Given the description of an element on the screen output the (x, y) to click on. 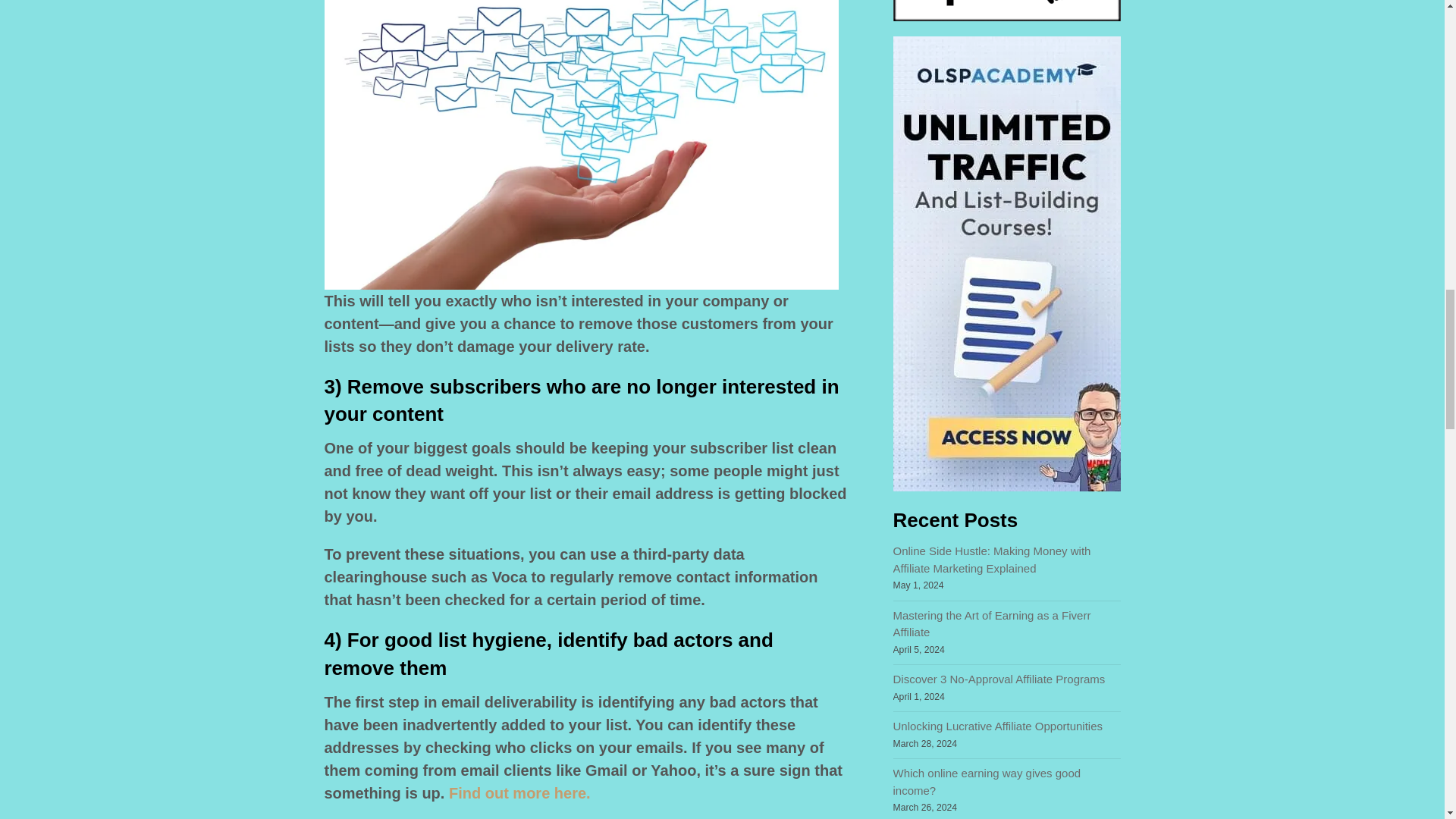
Find out more here. (519, 792)
